Given the description of an element on the screen output the (x, y) to click on. 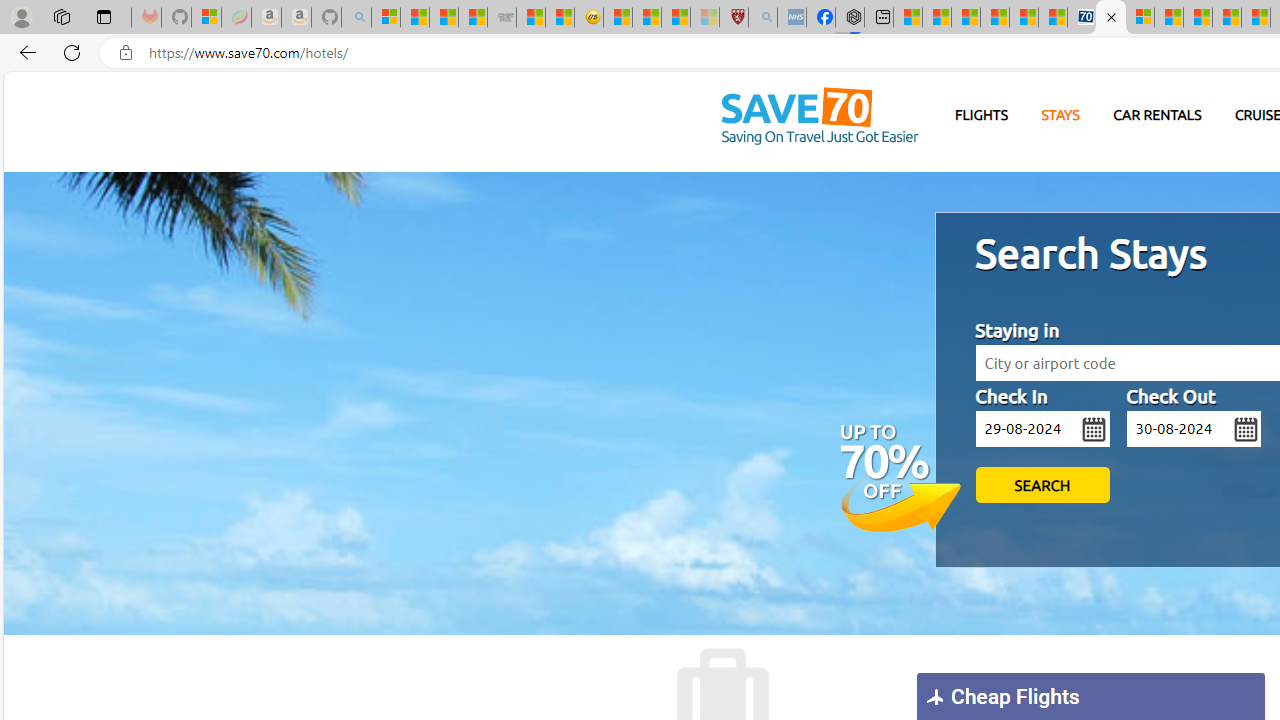
SEARCH (1042, 485)
